Given the description of an element on the screen output the (x, y) to click on. 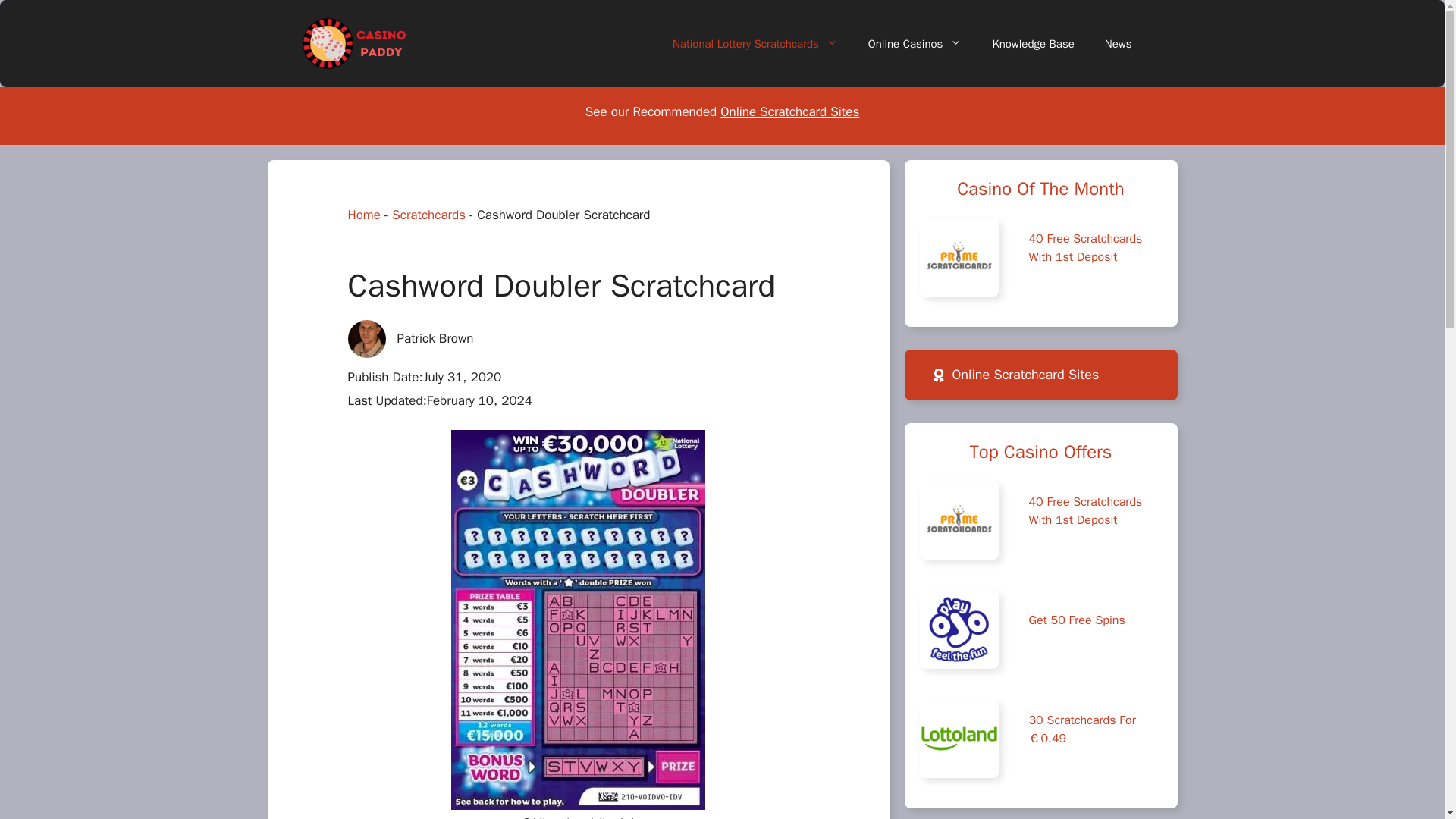
Scratchcards (428, 214)
Patrick-Brown-Headshot-1 (366, 338)
Lottoland-Logo (957, 738)
Prime-Scratchcards-Logo (957, 256)
News (1118, 43)
PlayOjo-Casino-logo (957, 629)
Prime-Scratchcards-Logo (957, 519)
Online Casinos (914, 43)
Home (363, 214)
Knowledge Base (1032, 43)
